Given the description of an element on the screen output the (x, y) to click on. 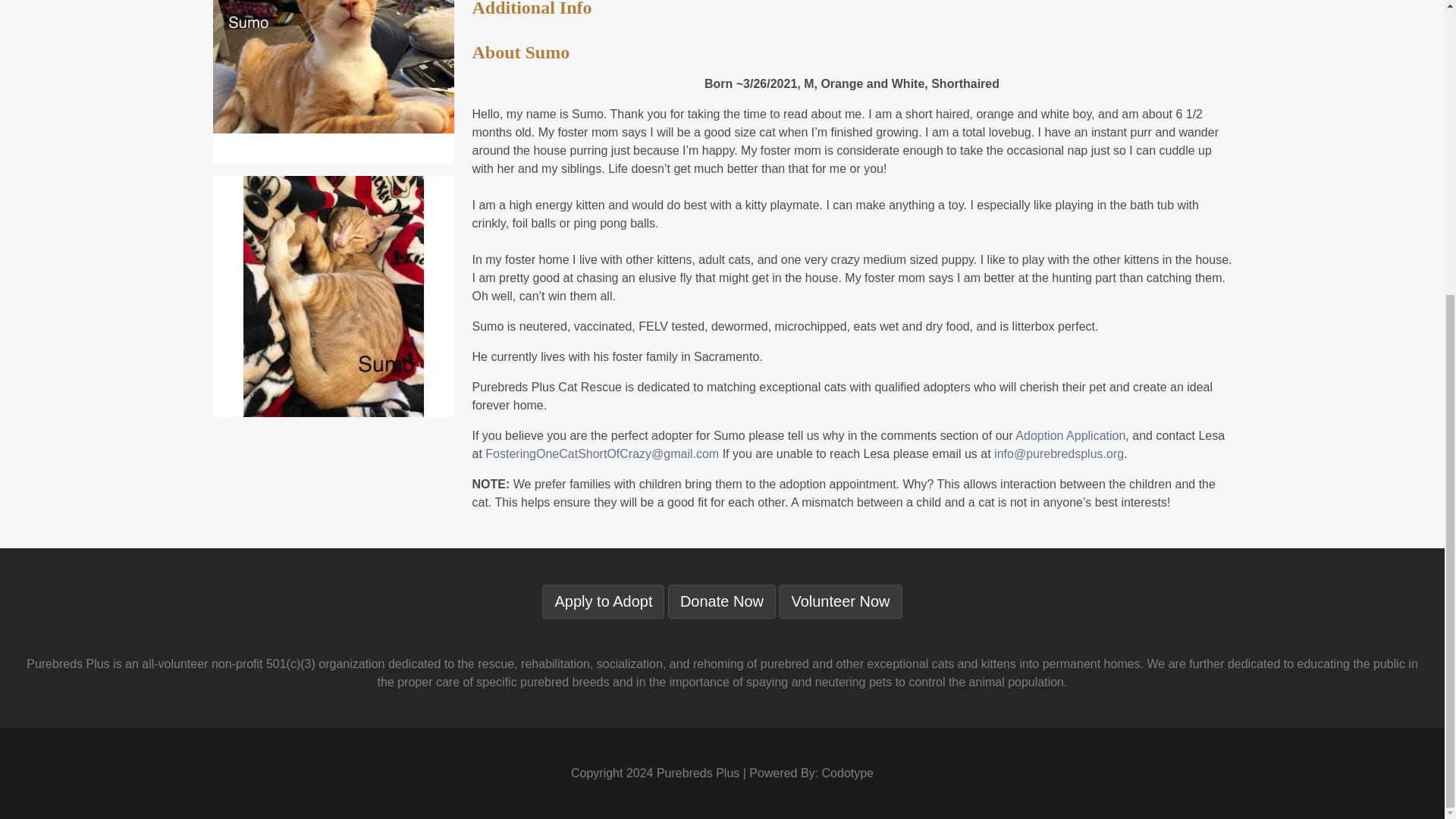
Donate Now (722, 601)
Adoption Application (1069, 435)
Apply to Adopt (602, 601)
Volunteer Now (839, 601)
